Given the description of an element on the screen output the (x, y) to click on. 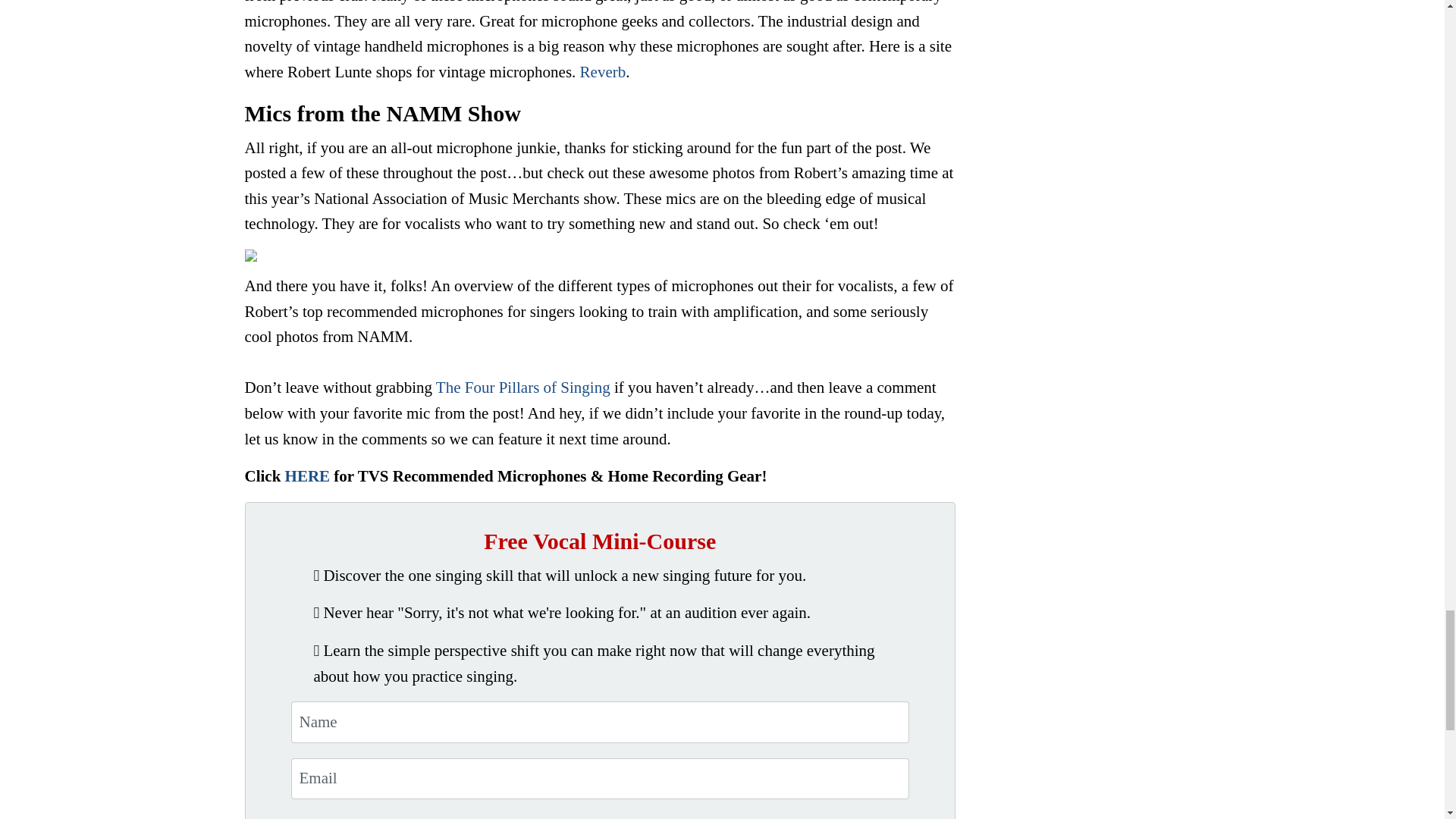
HERE (307, 475)
The Four Pillars of Singing (522, 387)
Reverb (602, 72)
